Given the description of an element on the screen output the (x, y) to click on. 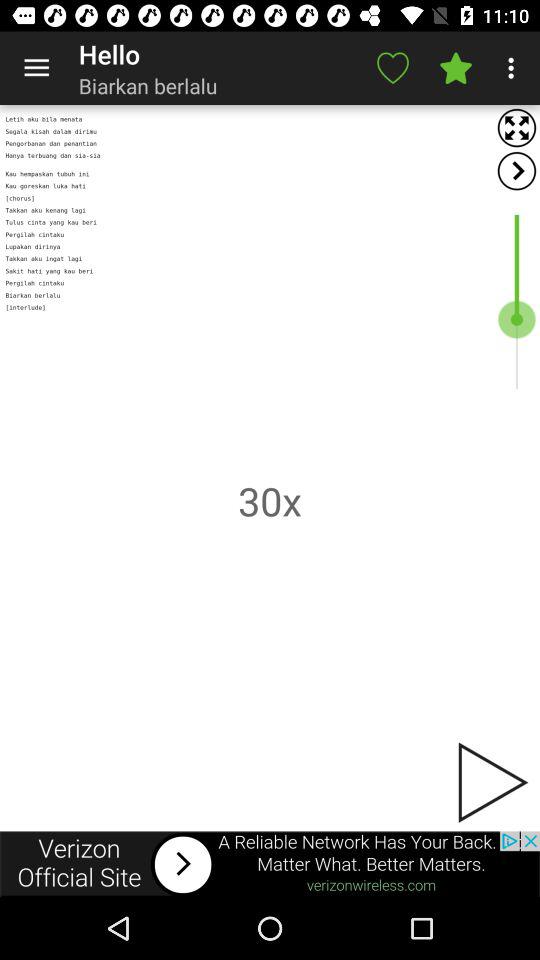
next (516, 170)
